Given the description of an element on the screen output the (x, y) to click on. 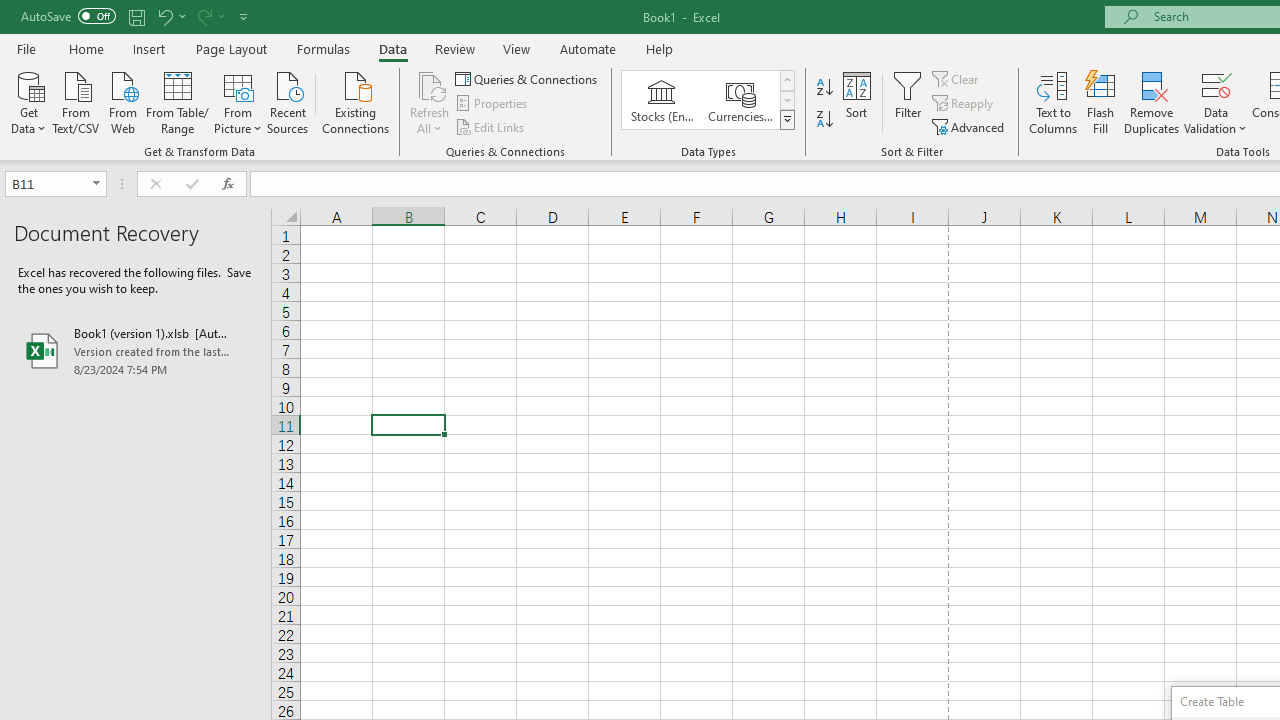
Row up (786, 79)
Data Types (786, 120)
Clear (957, 78)
Data Validation... (1215, 84)
AutomationID: ConvertToLinkedEntity (708, 99)
Recent Sources (287, 101)
Sort Z to A (824, 119)
From Table/Range (177, 101)
Redo (203, 15)
Name Box (46, 183)
Customize Quick Access Toolbar (244, 15)
Open (96, 183)
